Given the description of an element on the screen output the (x, y) to click on. 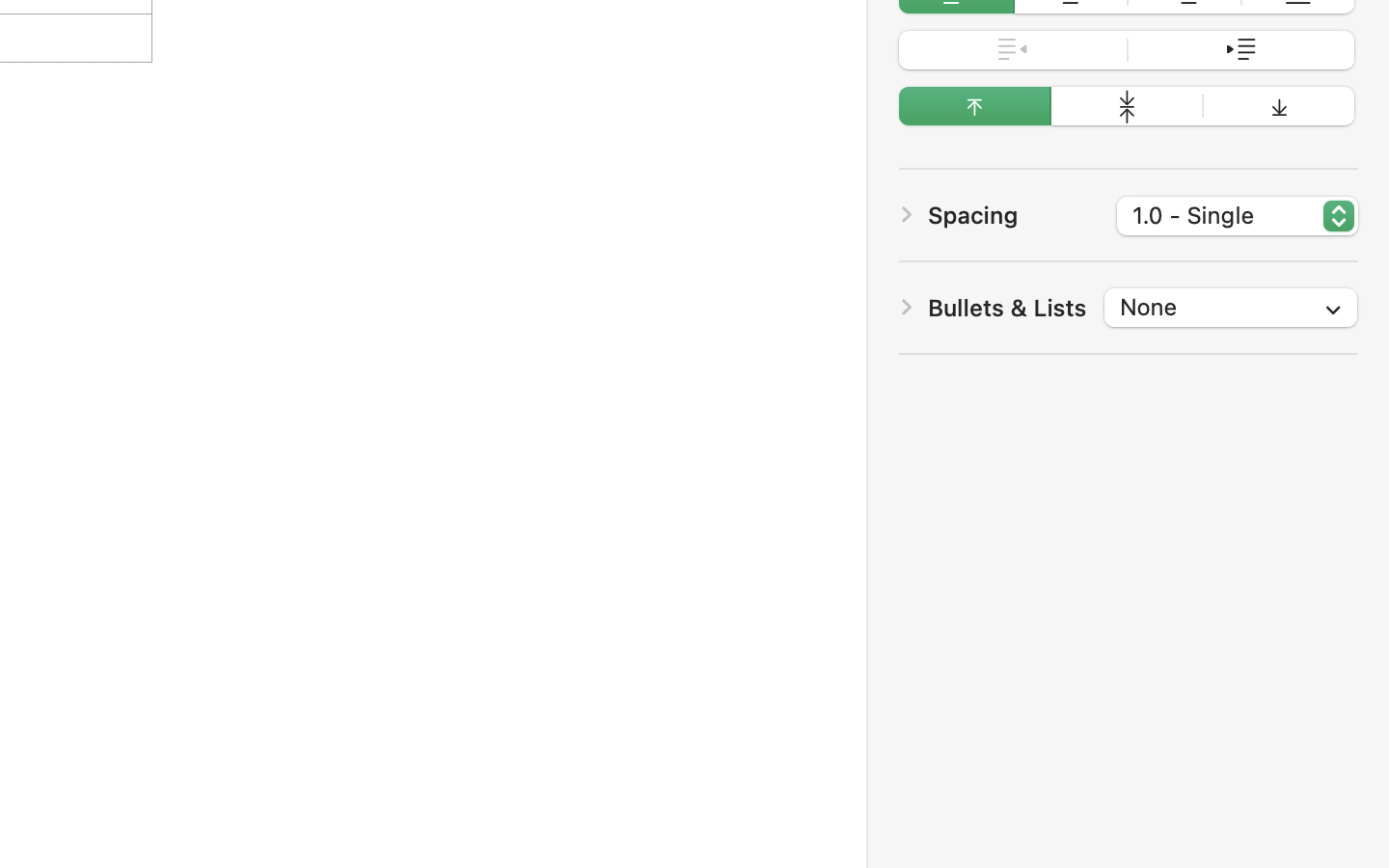
1.0 - Single Element type: AXPopUpButton (1238, 218)
Spacing Element type: AXStaticText (973, 214)
